Given the description of an element on the screen output the (x, y) to click on. 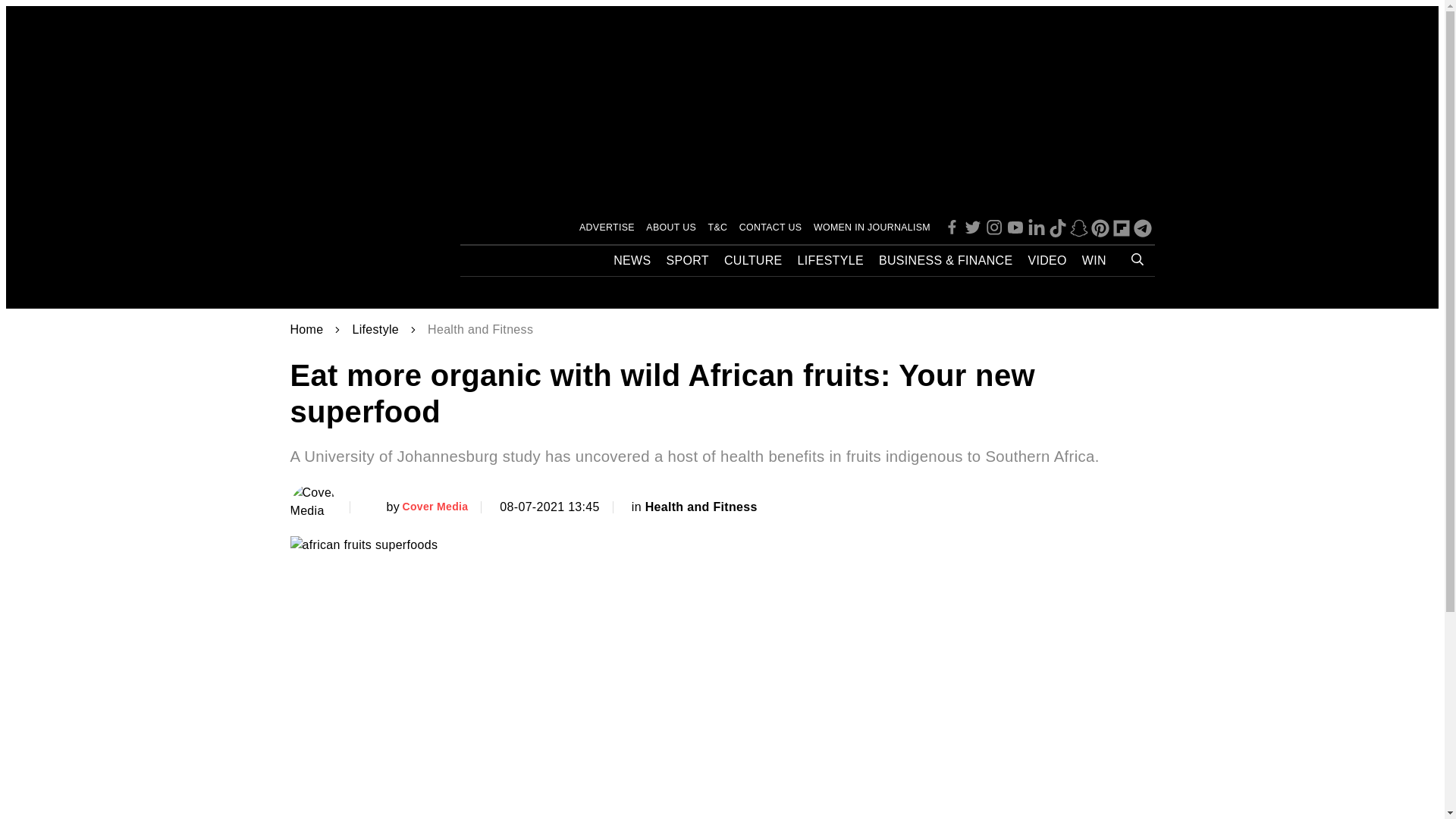
ABOUT US (670, 227)
WOMEN IN JOURNALISM (871, 227)
ADVERTISE (606, 227)
NEWS (631, 260)
CONTACT US (770, 227)
